Given the description of an element on the screen output the (x, y) to click on. 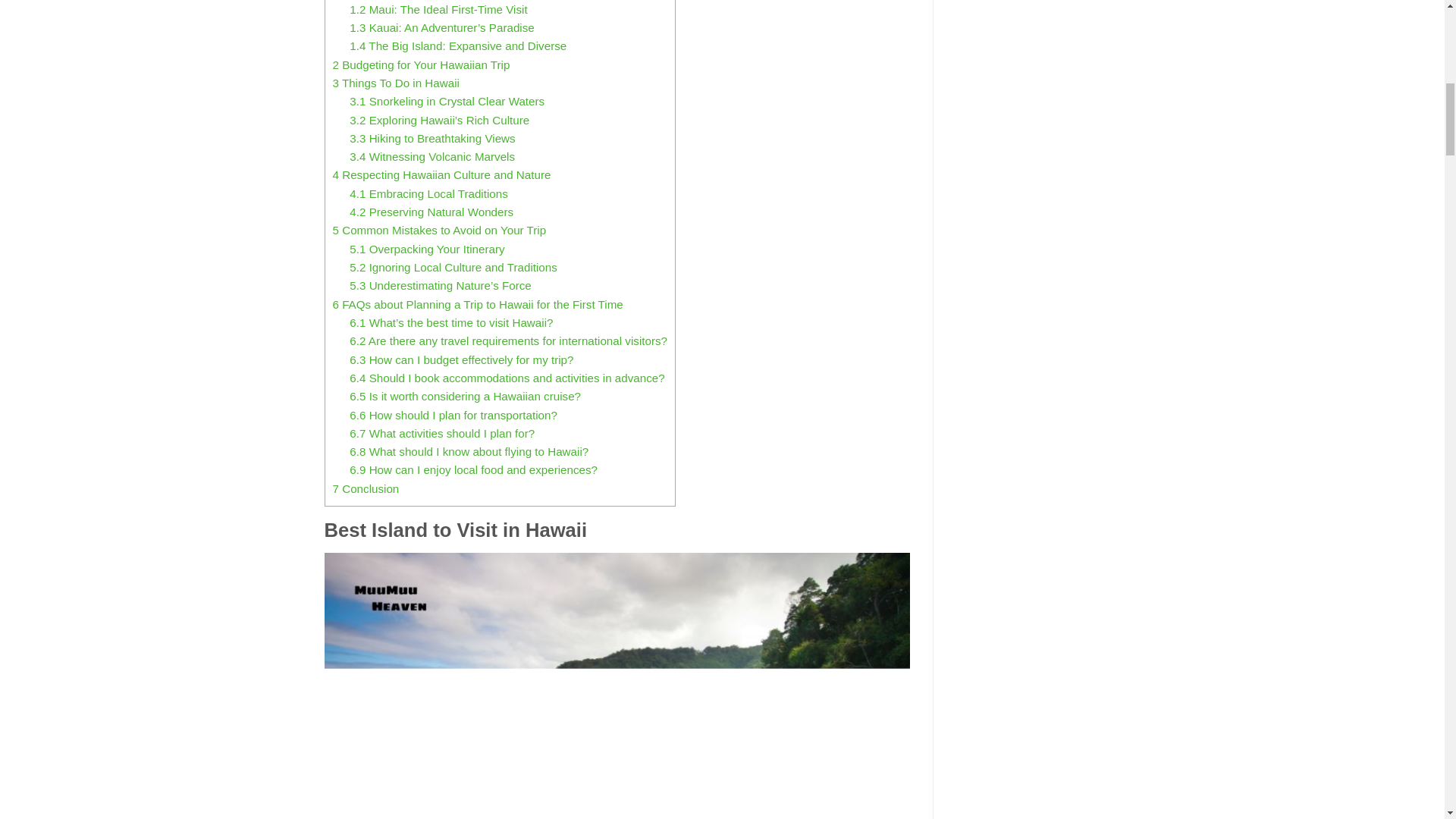
3.3 Hiking to Breathtaking Views (432, 137)
6.9 How can I enjoy local food and experiences? (472, 469)
2 Budgeting for Your Hawaiian Trip (420, 64)
1.4 The Big Island: Expansive and Diverse (457, 45)
6.7 What activities should I plan for? (441, 432)
7 Conclusion (364, 488)
1.2 Maui: The Ideal First-Time Visit (438, 9)
6.5 Is it worth considering a Hawaiian cruise? (464, 395)
4.1 Embracing Local Traditions (428, 193)
6.4 Should I book accommodations and activities in advance? (506, 377)
5.1 Overpacking Your Itinerary (426, 248)
5 Common Mistakes to Avoid on Your Trip (438, 229)
6.6 How should I plan for transportation? (453, 414)
6 FAQs about Planning a Trip to Hawaii for the First Time (477, 304)
5.2 Ignoring Local Culture and Traditions (453, 267)
